Given the description of an element on the screen output the (x, y) to click on. 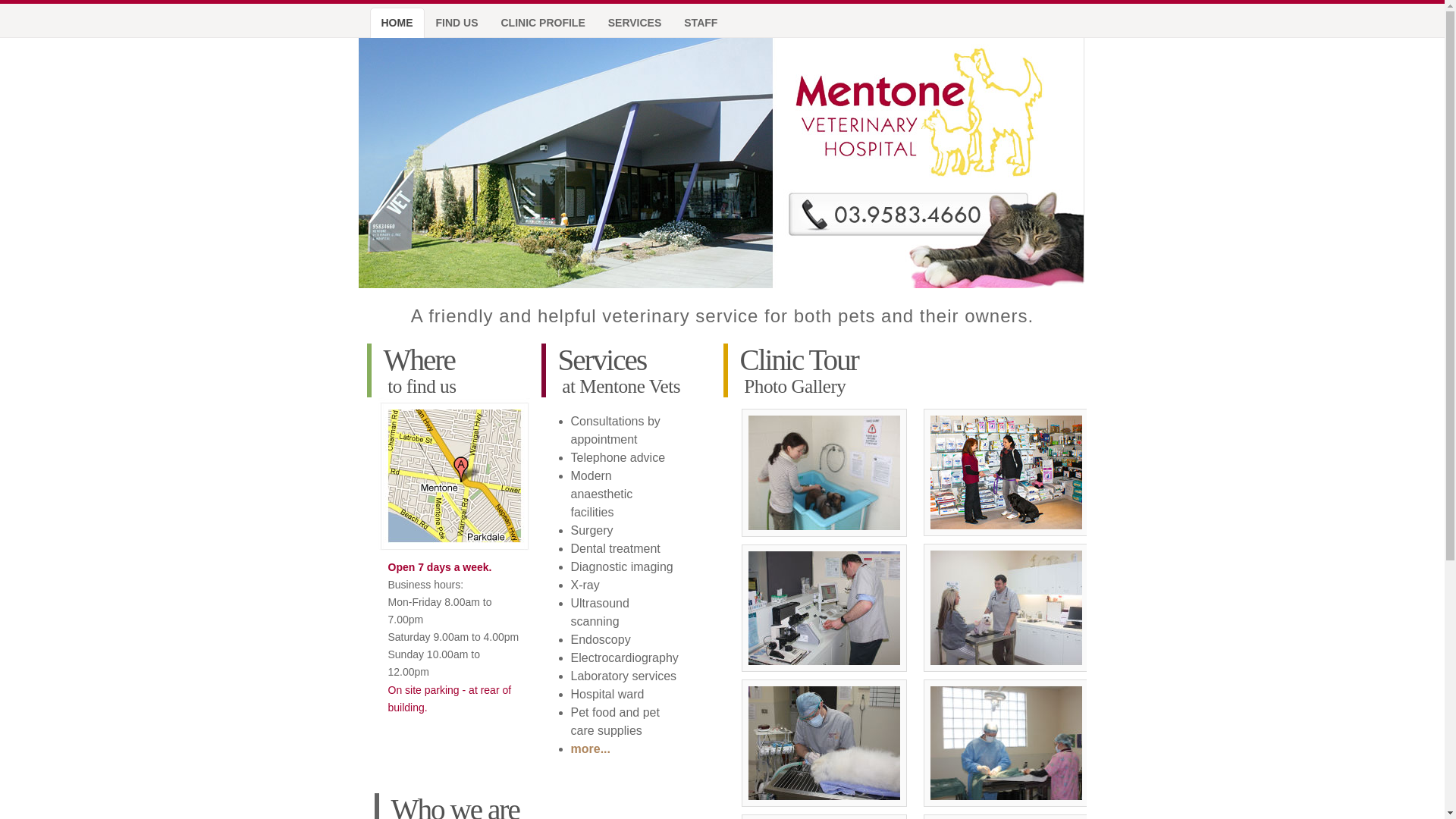
Clinic Tour
 Photo Gallery Element type: text (899, 370)
HOME Element type: text (400, 22)
CLINIC PROFILE Element type: text (546, 22)
Click to Open Large Map Element type: hover (447, 405)
Mentone Vet Clinic Photos Element type: hover (1005, 548)
STAFF Element type: text (704, 22)
Mentone Vet Clinic Photos Element type: hover (1005, 683)
more... Element type: text (589, 748)
Where
 to find us Element type: text (452, 370)
SERVICES Element type: text (638, 22)
FIND US Element type: text (460, 22)
Services
 at Mentone Vets Element type: text (626, 370)
Mentone Vet Clinic Photos Element type: hover (823, 548)
Mentone Vet Clinic Photos Element type: hover (1005, 413)
Mentone Vet Clinic Photos Element type: hover (823, 683)
Mentone Vet Clinic Photos Element type: hover (823, 413)
